Given the description of an element on the screen output the (x, y) to click on. 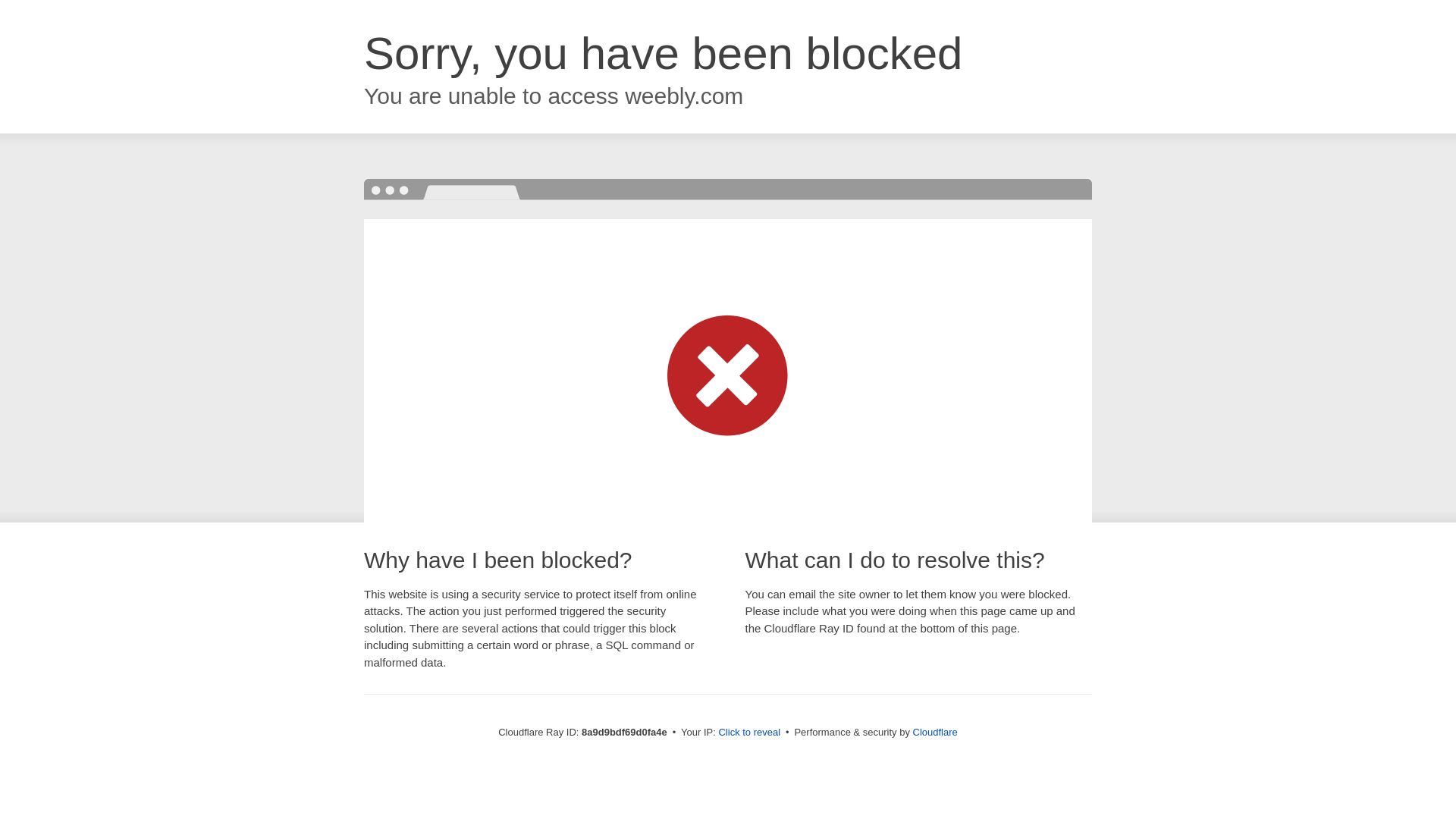
Cloudflare (935, 731)
Click to reveal (748, 732)
